Given the description of an element on the screen output the (x, y) to click on. 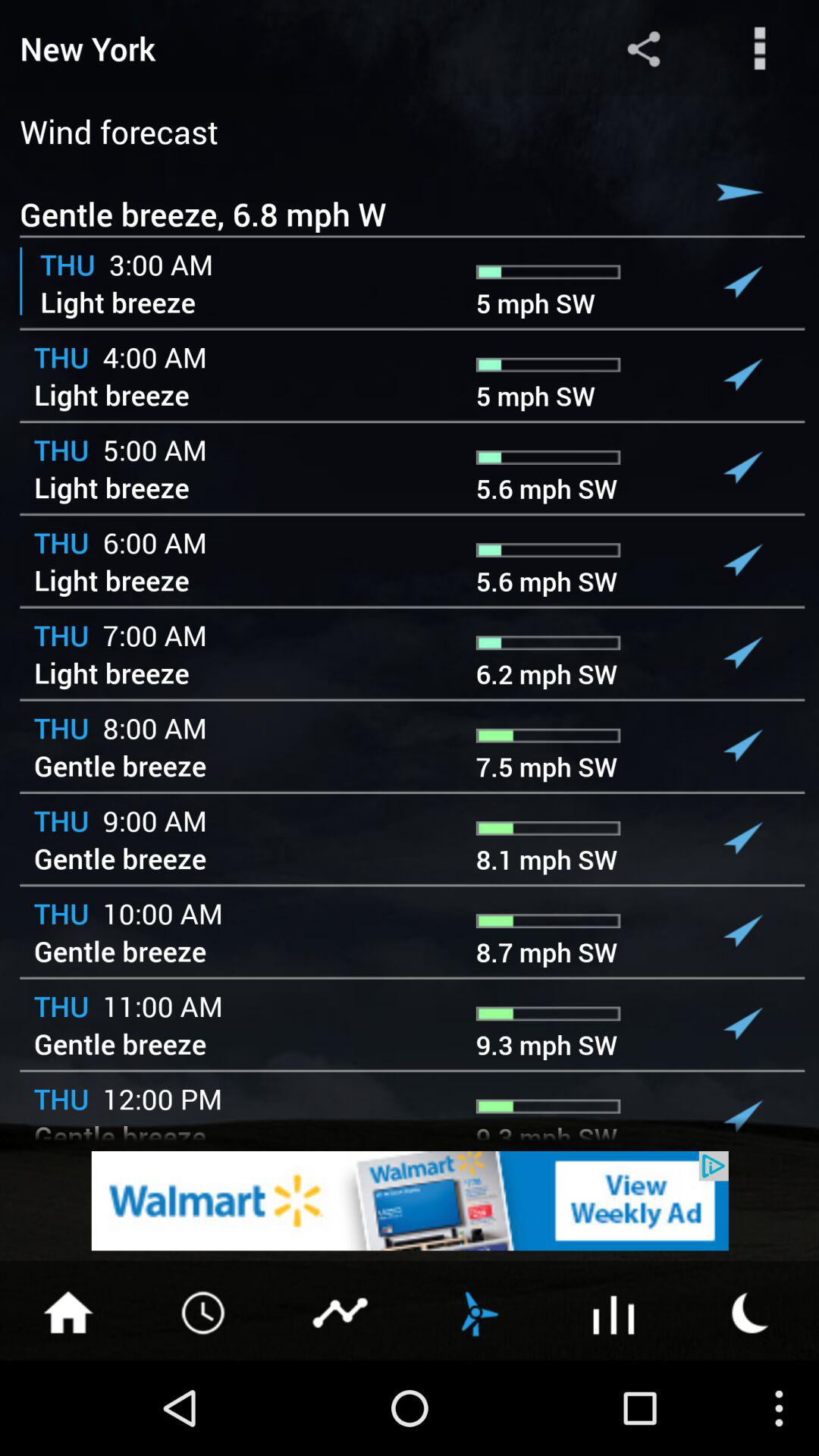
view settings (759, 48)
